Given the description of an element on the screen output the (x, y) to click on. 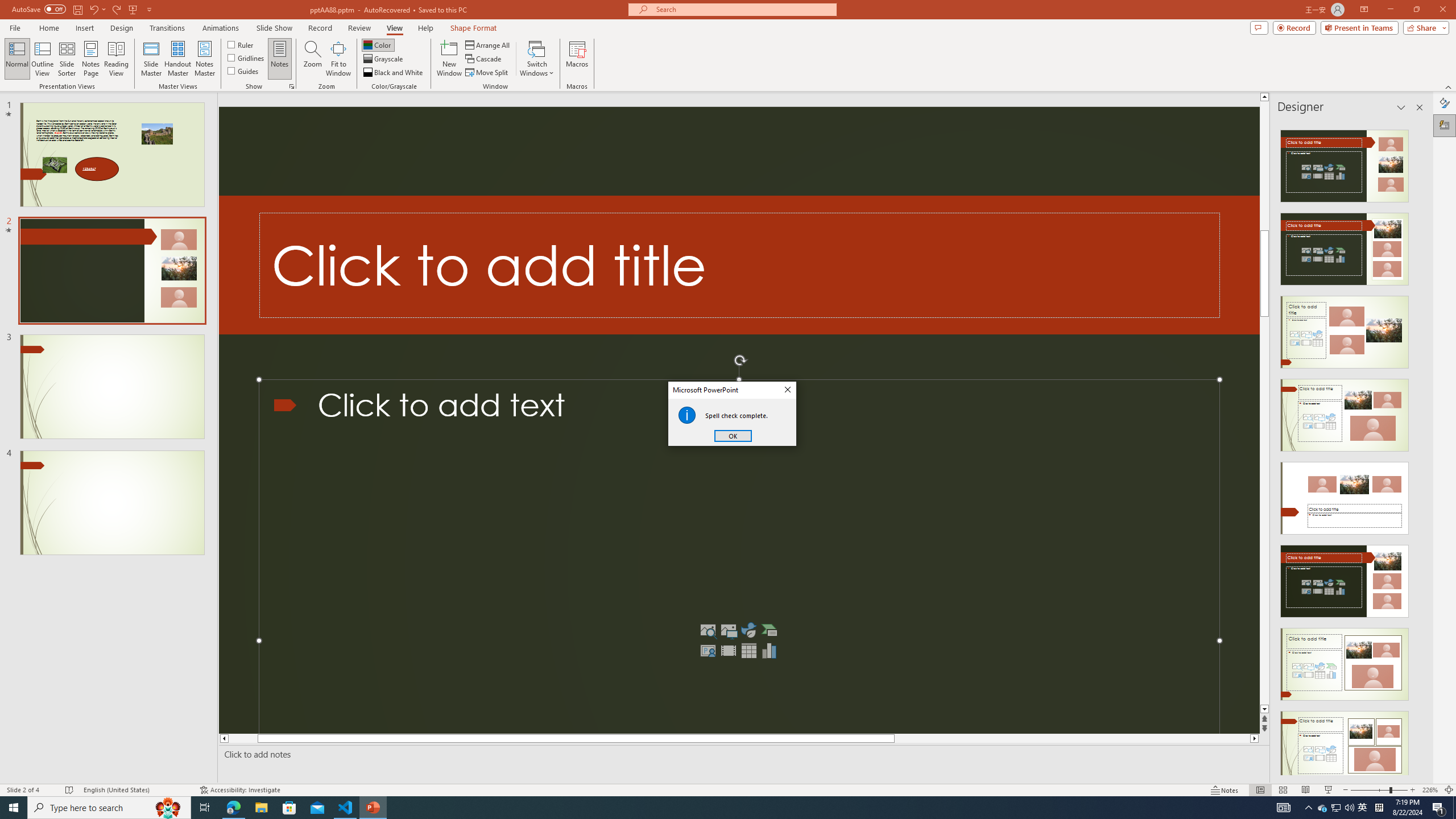
Guides (243, 69)
Switch Windows (537, 58)
Move Split (487, 72)
